Given the description of an element on the screen output the (x, y) to click on. 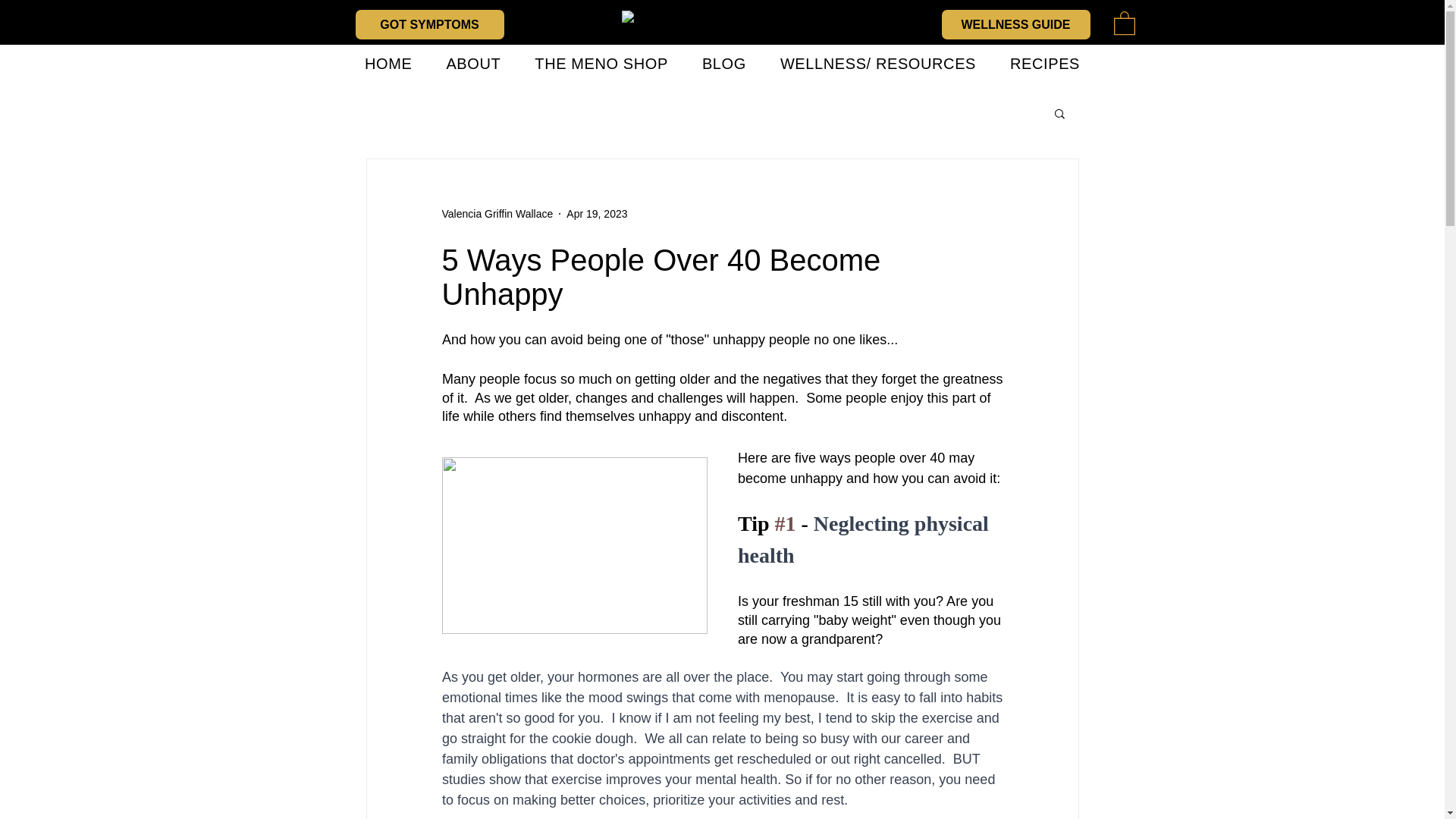
RECIPES (1044, 63)
THE MENO SHOP (601, 63)
ABOUT (473, 63)
HOME (387, 63)
Valencia Griffin Wallace (497, 213)
WELLNESS GUIDE (1016, 24)
Apr 19, 2023 (596, 214)
BLOG (723, 63)
GOT SYMPTOMS (429, 24)
Valencia Griffin Wallace (497, 213)
